Given the description of an element on the screen output the (x, y) to click on. 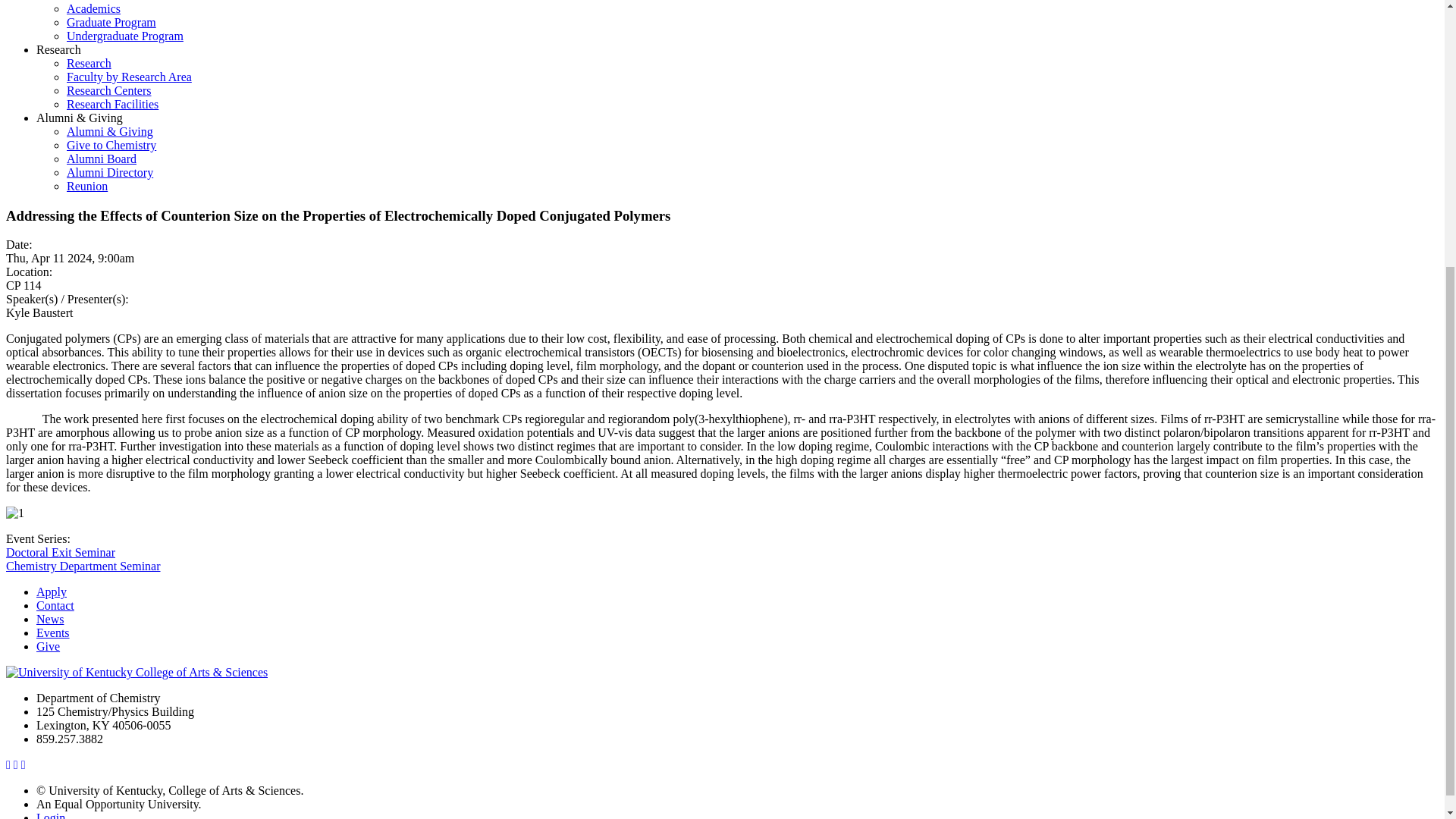
Academics (93, 8)
Twitter (15, 764)
Apply (51, 591)
Undergraduate Program (124, 35)
News (50, 618)
Doctoral Exit Seminar (60, 552)
Instagram (23, 764)
Give to Chemistry (110, 144)
Research Centers (108, 90)
Alumni Directory (109, 172)
Alumni Board (101, 158)
Facebook (7, 764)
Faculty by Research Area (129, 76)
Graduate Program (110, 21)
Contact (55, 604)
